Given the description of an element on the screen output the (x, y) to click on. 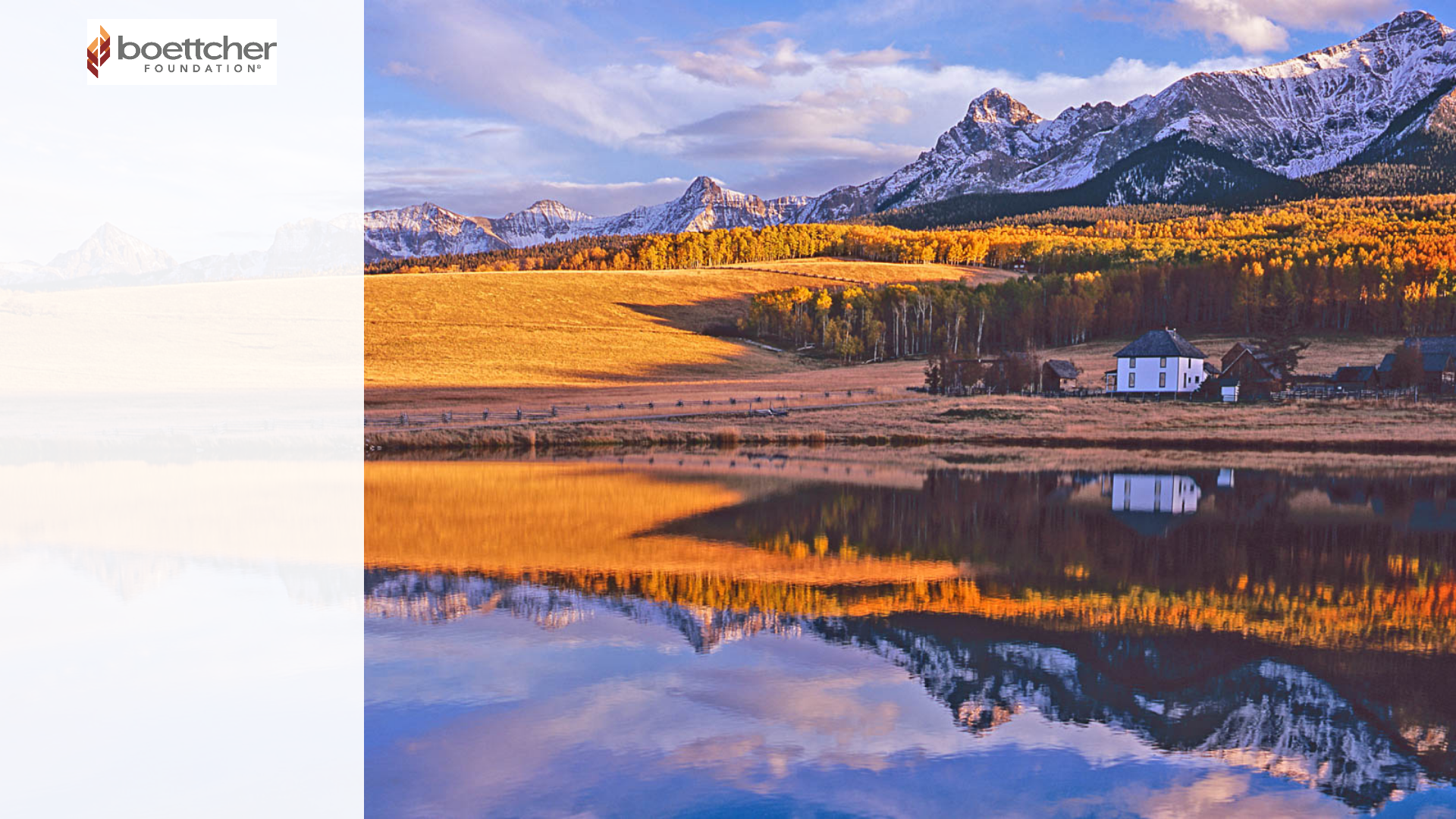
Boettcher Foundation Logo Element type: hover (181, 51)
